Given the description of an element on the screen output the (x, y) to click on. 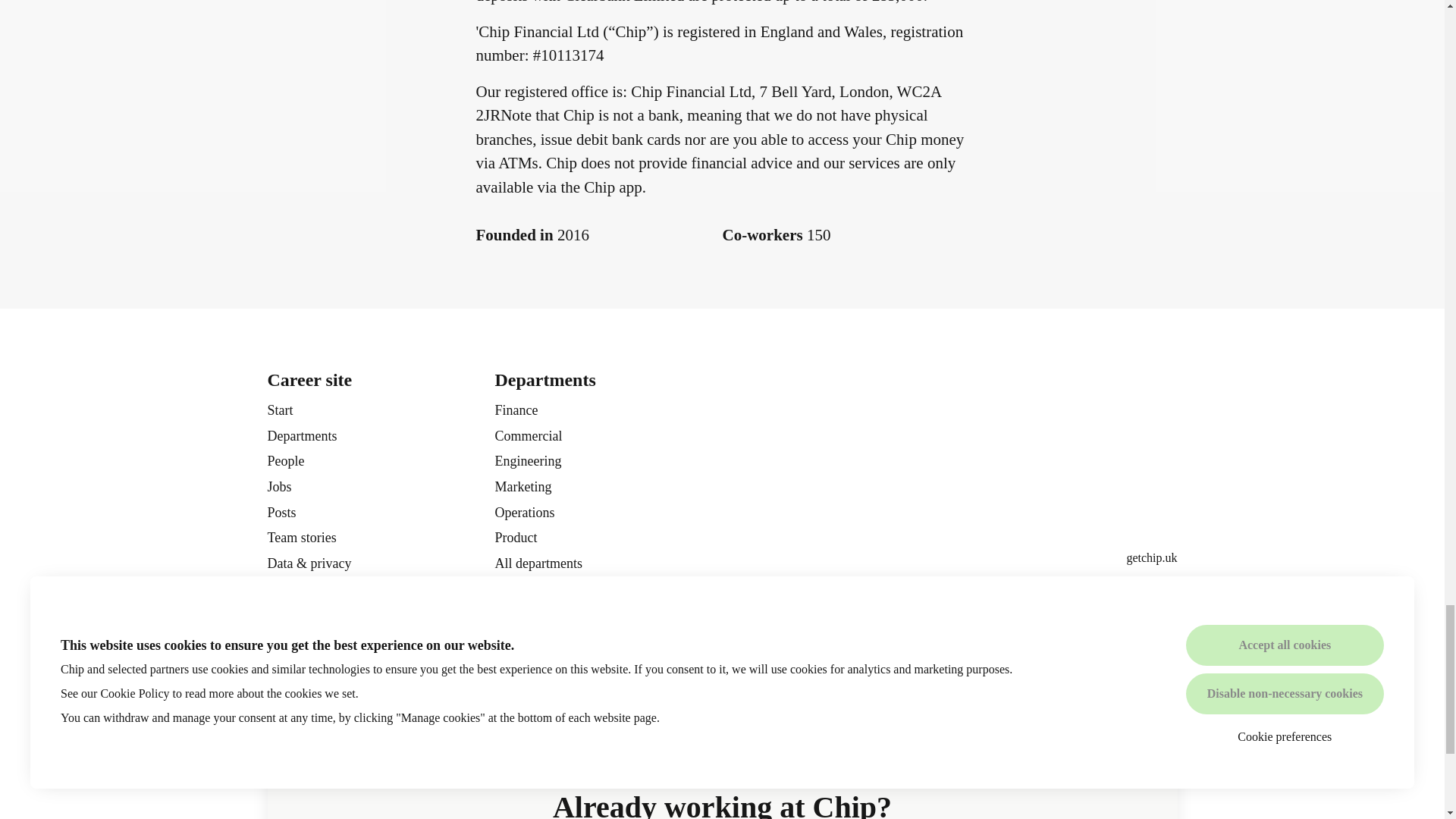
Departments (301, 435)
instagram (1164, 589)
Manage cookies (310, 591)
facebook (1115, 589)
linkedin (1140, 589)
Jobs (278, 486)
People (285, 460)
Posts (280, 512)
Team stories (301, 537)
x-twitter (1091, 589)
Finance (516, 409)
Start (279, 409)
